Given the description of an element on the screen output the (x, y) to click on. 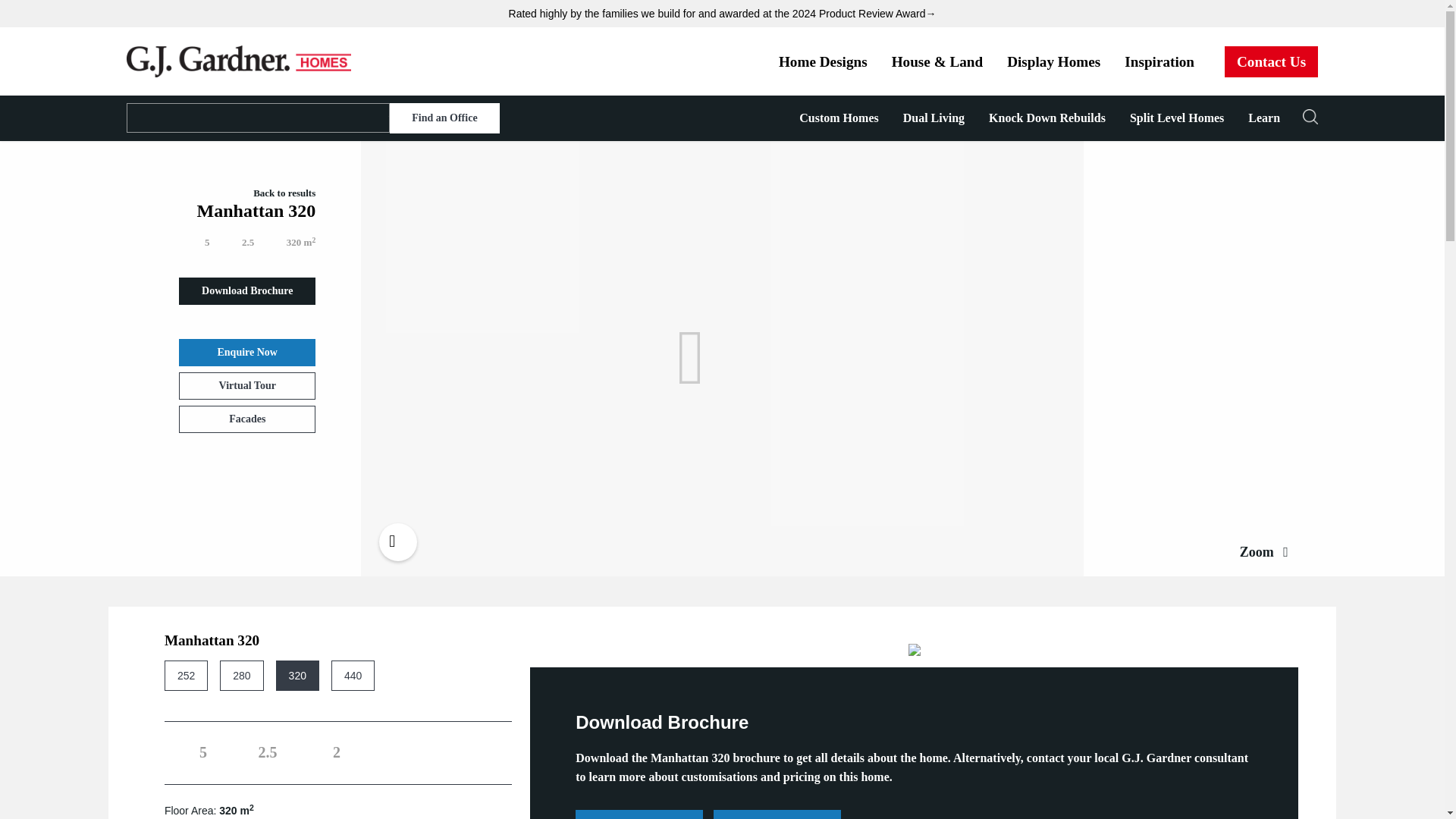
Find an Office (444, 118)
Learn (1264, 118)
Knock Down Rebuilds (1047, 118)
Download Brochure (247, 290)
Split Level Homes (1177, 118)
Enquire Now (247, 352)
Dual Living (933, 118)
Custom Homes (838, 118)
Contact Us (1270, 61)
Back to results (269, 193)
Inspiration (1159, 61)
Display Homes (1053, 61)
Find an Office (444, 118)
Home Designs (823, 61)
